Given the description of an element on the screen output the (x, y) to click on. 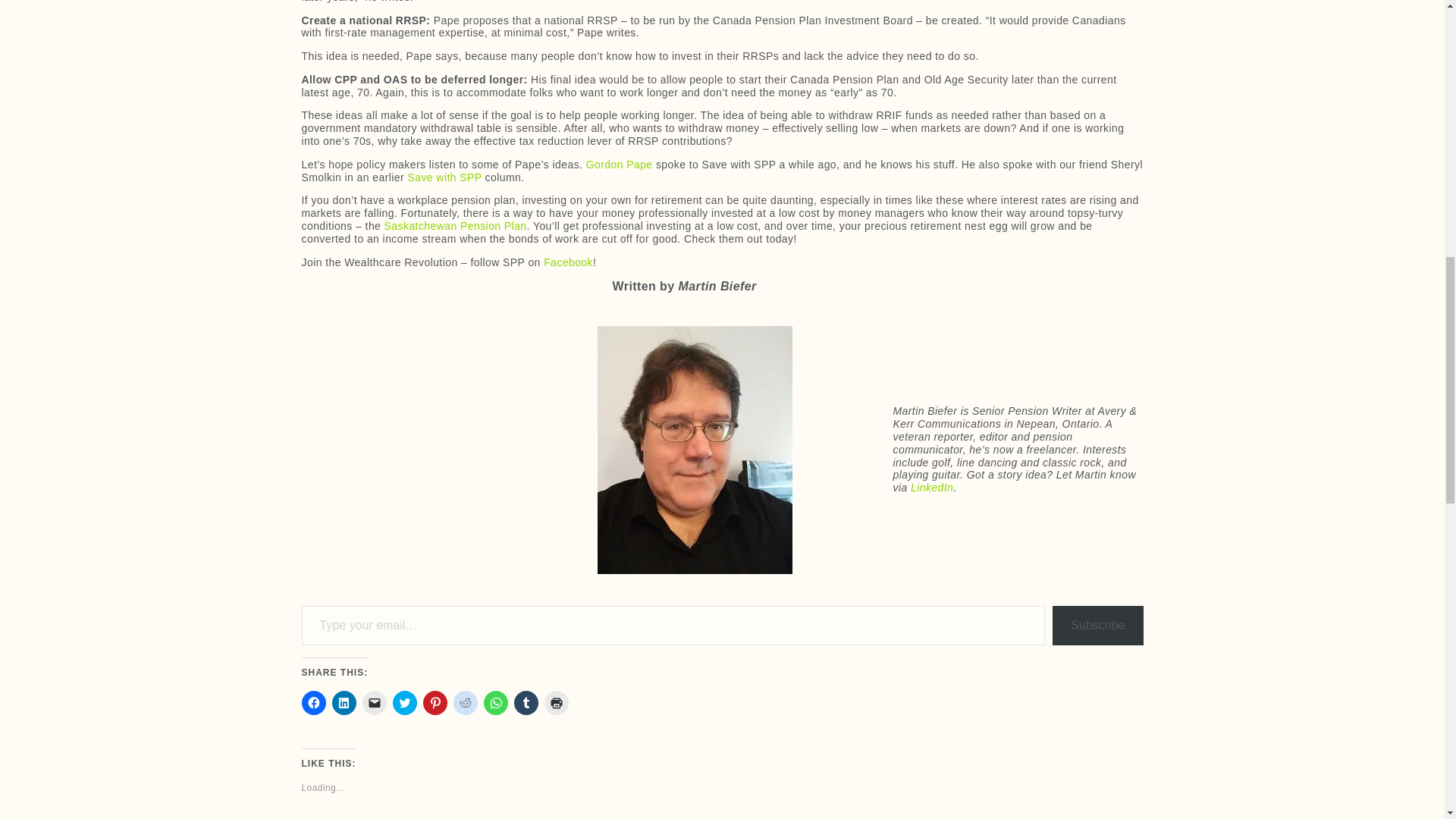
Please fill in this field. (673, 626)
Gordon Pape (619, 164)
Click to share on Reddit (464, 702)
Click to email a link to a friend (374, 702)
Click to share on Pinterest (434, 702)
Click to share on Tumblr (525, 702)
Click to print (556, 702)
Click to share on WhatsApp (495, 702)
Saskatchewan Pension Plan (455, 225)
Click to share on Facebook (313, 702)
